Given the description of an element on the screen output the (x, y) to click on. 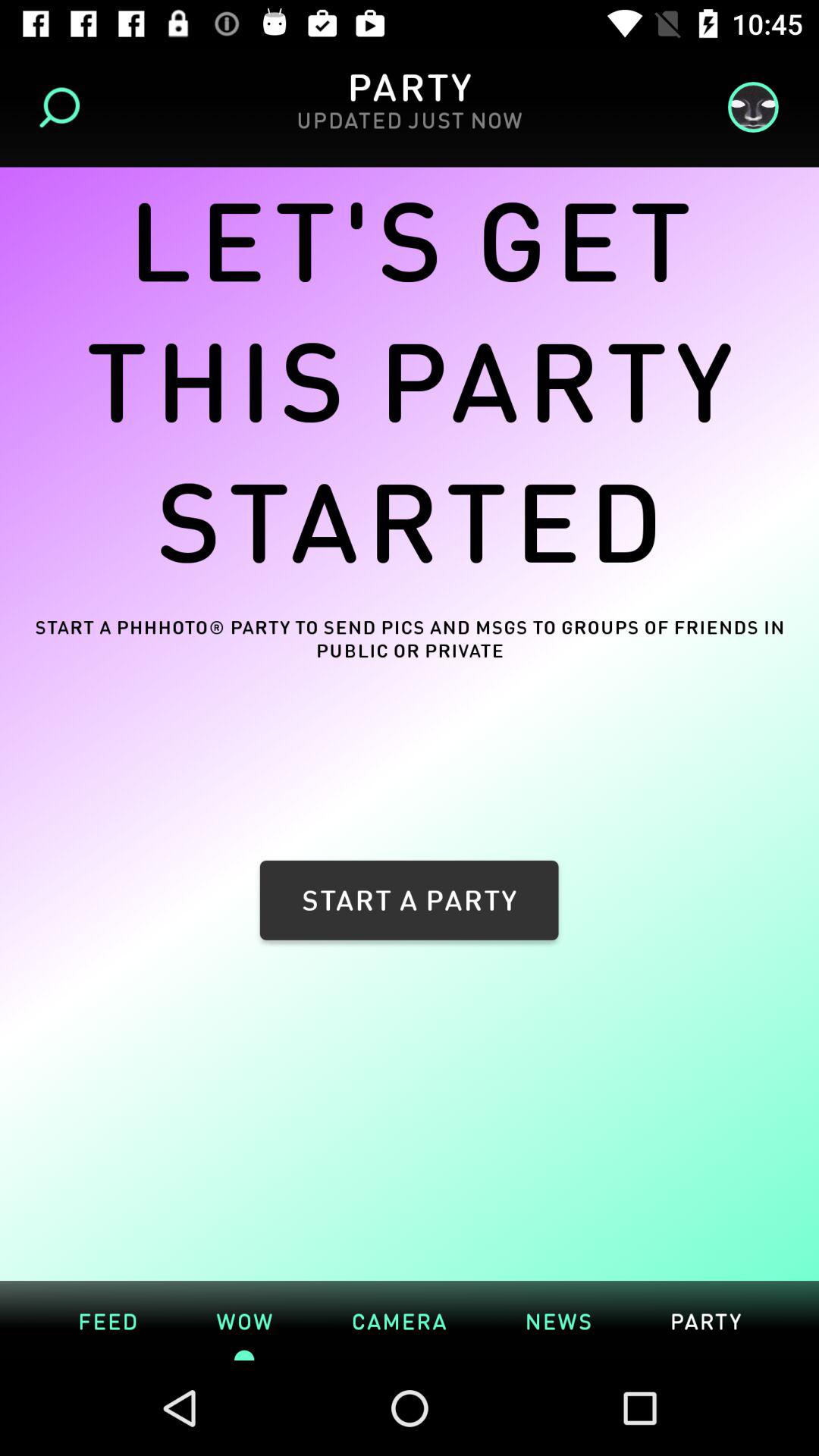
launch the icon below the start a party (409, 1272)
